Given the description of an element on the screen output the (x, y) to click on. 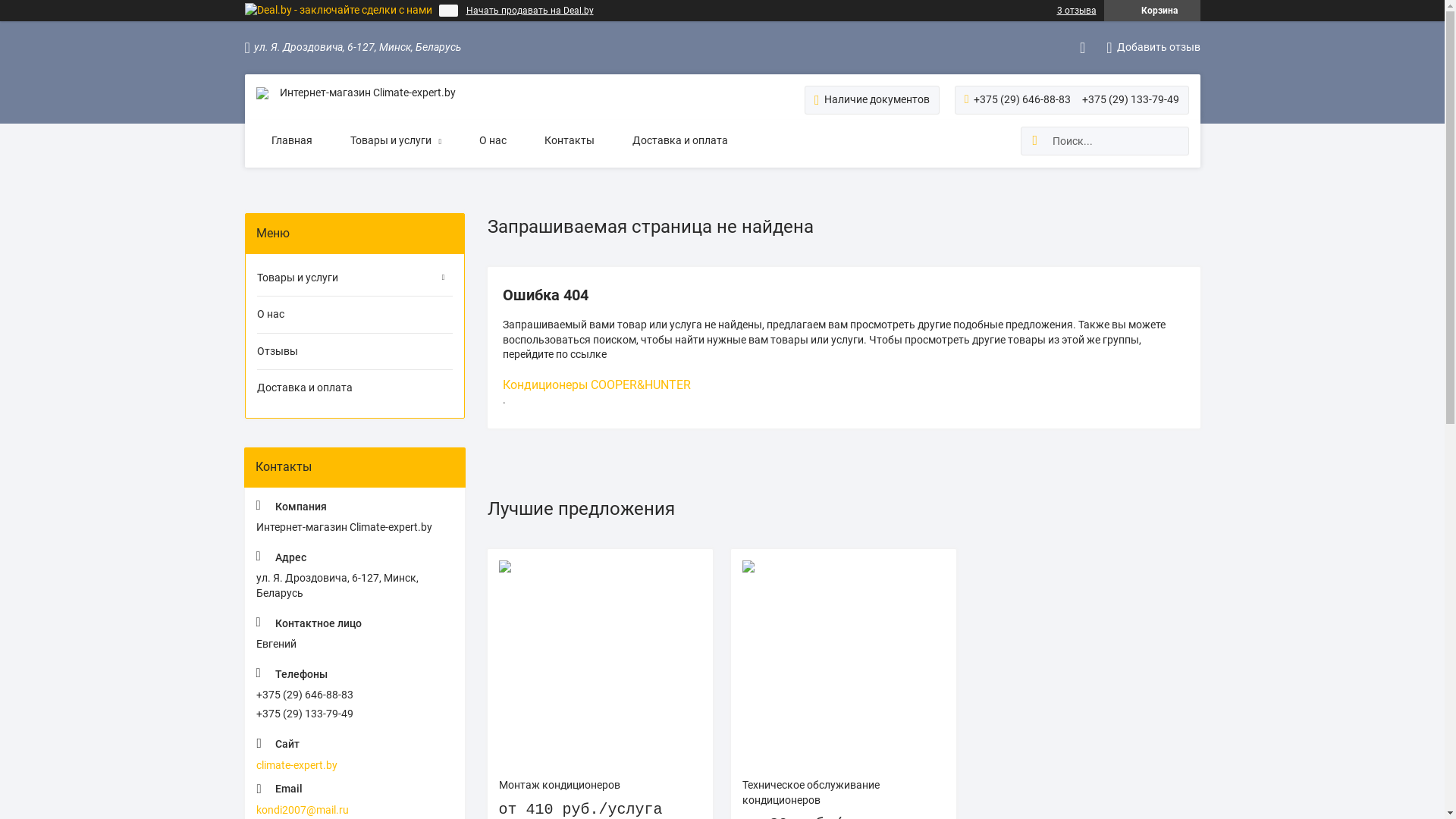
kondi2007@mail.ru Element type: text (354, 799)
climate-expert.by Element type: text (354, 753)
